Given the description of an element on the screen output the (x, y) to click on. 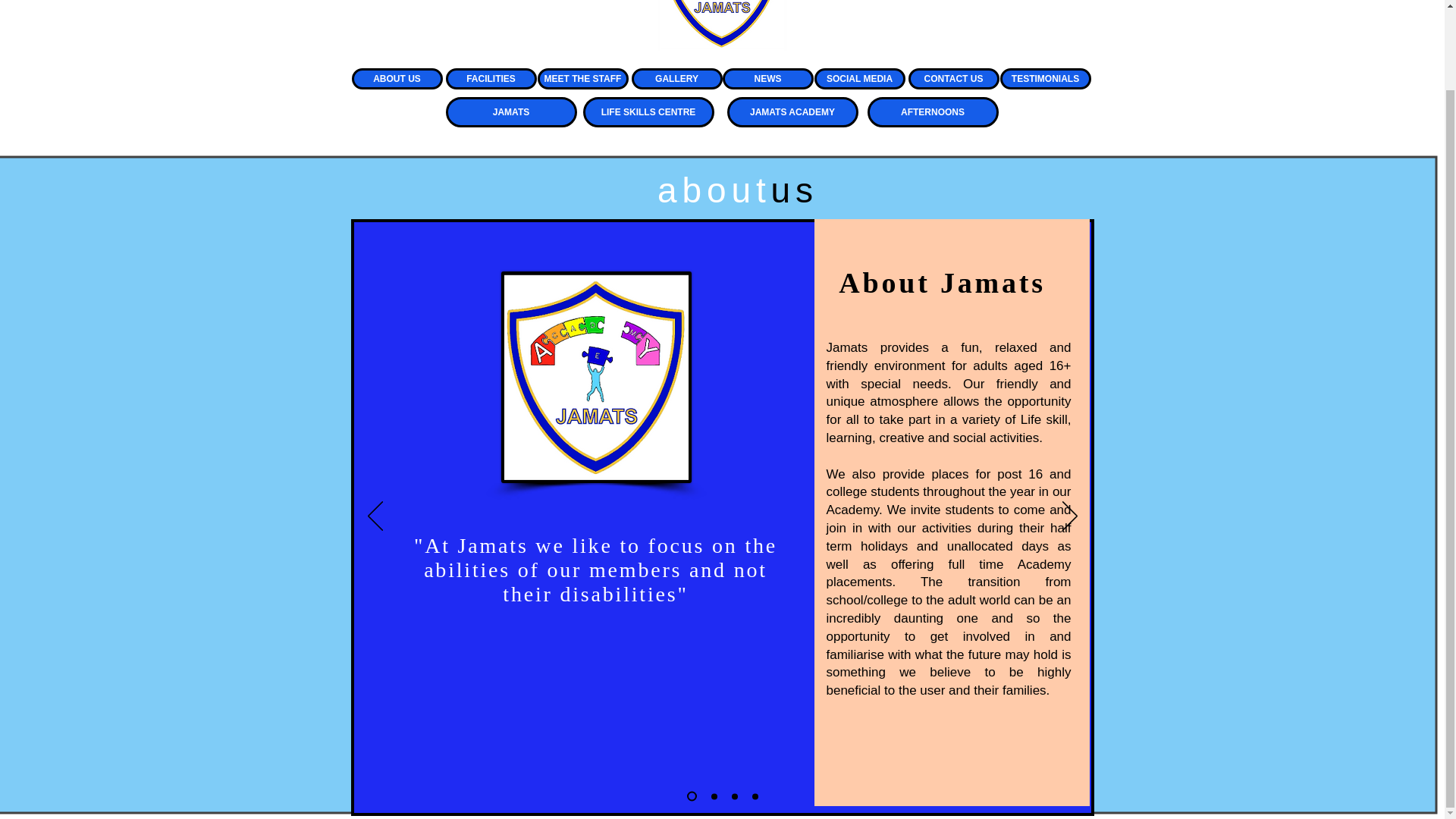
JAMATS (510, 112)
ABOUT US (397, 78)
Picture1.png (595, 377)
FACILITIES (491, 78)
TESTIMONIALS (1044, 78)
AFTERNOONS (932, 112)
Picture1.png (722, 25)
GALLERY (676, 78)
MEET THE STAFF (582, 78)
NEWS (767, 78)
LIFE SKILLS CENTRE (647, 112)
JAMATS ACADEMY (791, 112)
SOCIAL MEDIA (859, 78)
CONTACT US (953, 78)
